Given the description of an element on the screen output the (x, y) to click on. 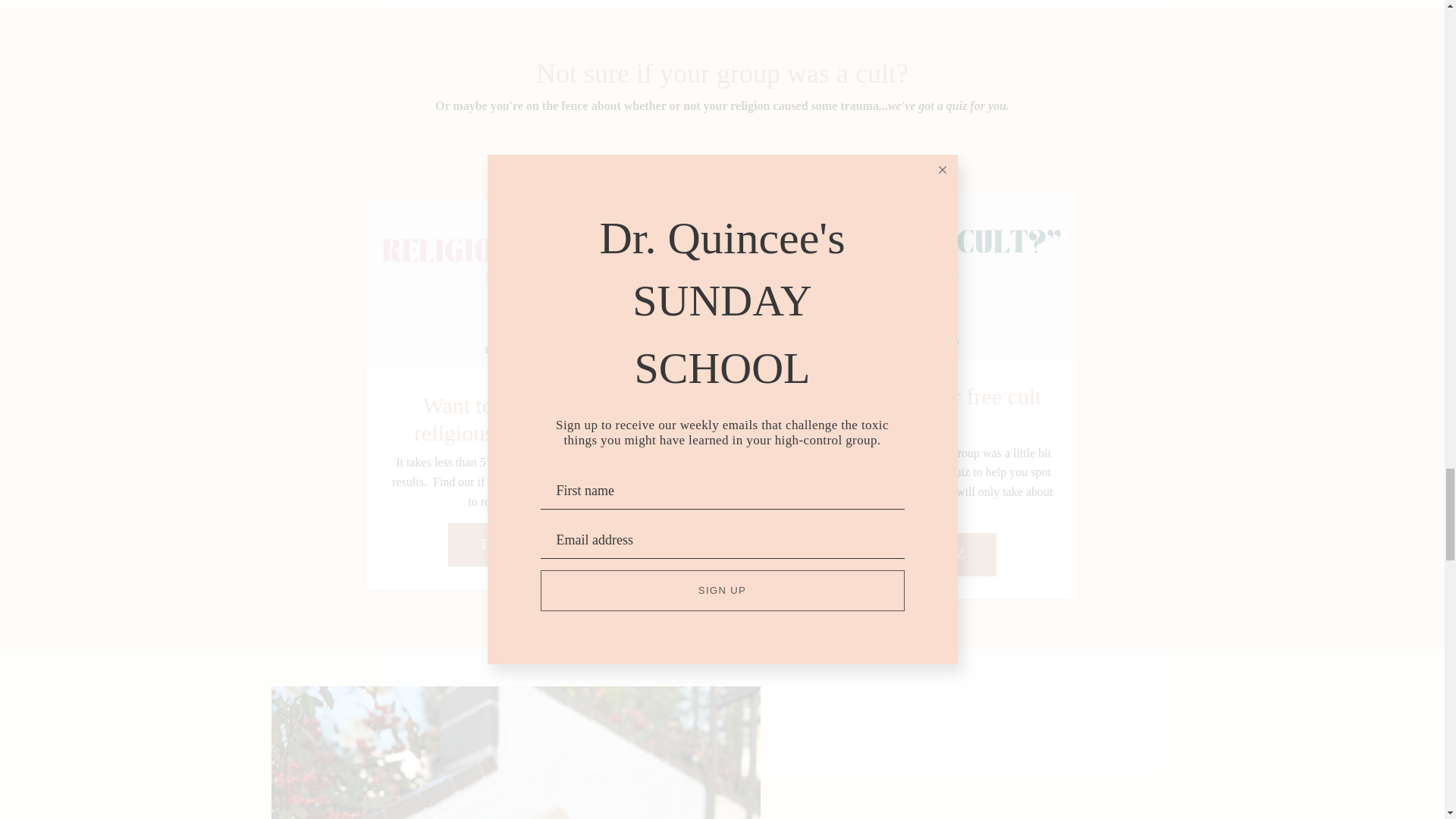
TAKE QUIZ (926, 554)
TAKE QUIZ (517, 544)
